Given the description of an element on the screen output the (x, y) to click on. 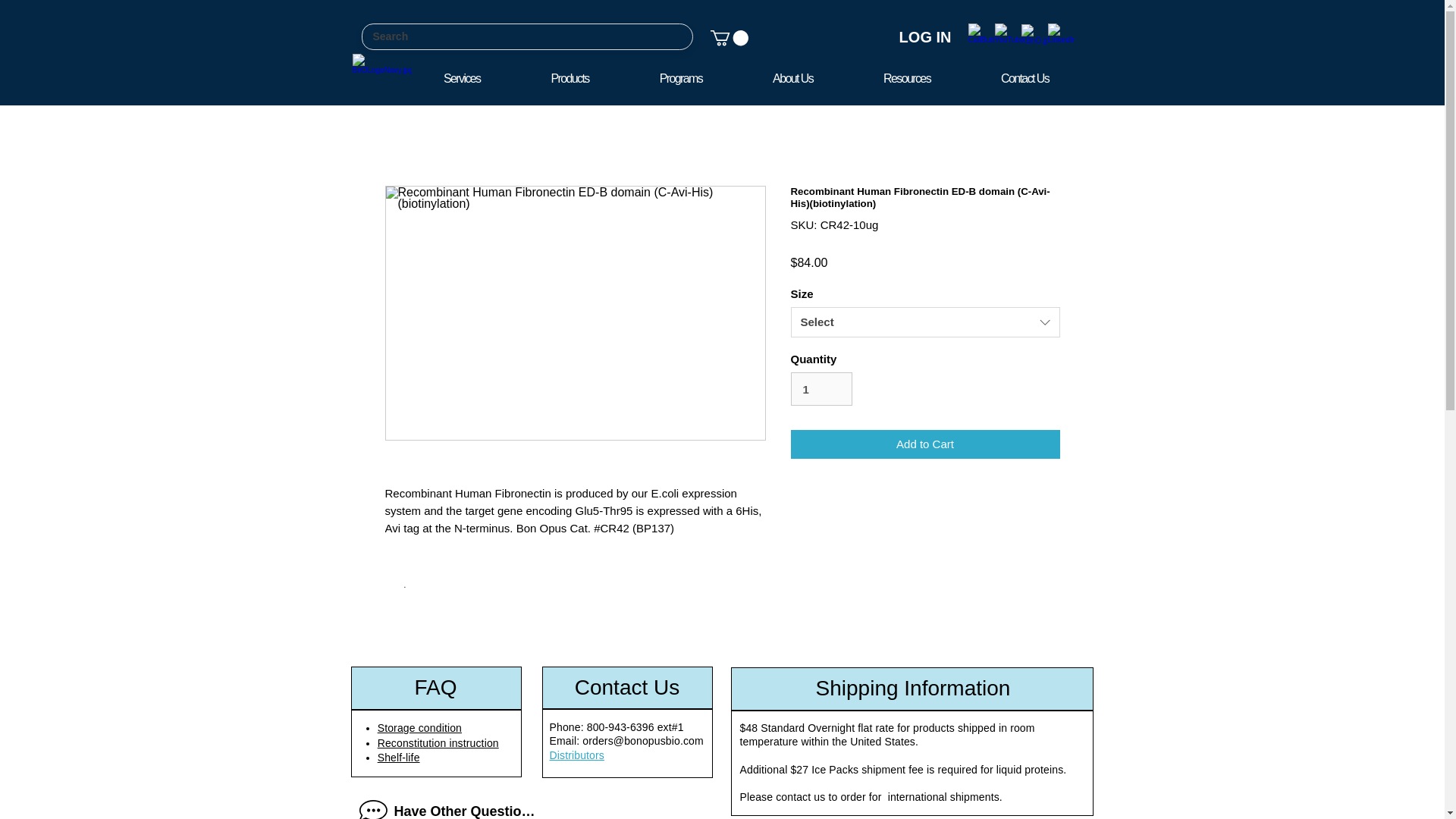
Select (924, 322)
Add to Cart (924, 444)
Services (461, 78)
Storage condition (419, 727)
Distributors (576, 755)
Reconstitution instruction (438, 743)
Resources (906, 78)
1 (745, 78)
Have Other Questions? (820, 388)
